Given the description of an element on the screen output the (x, y) to click on. 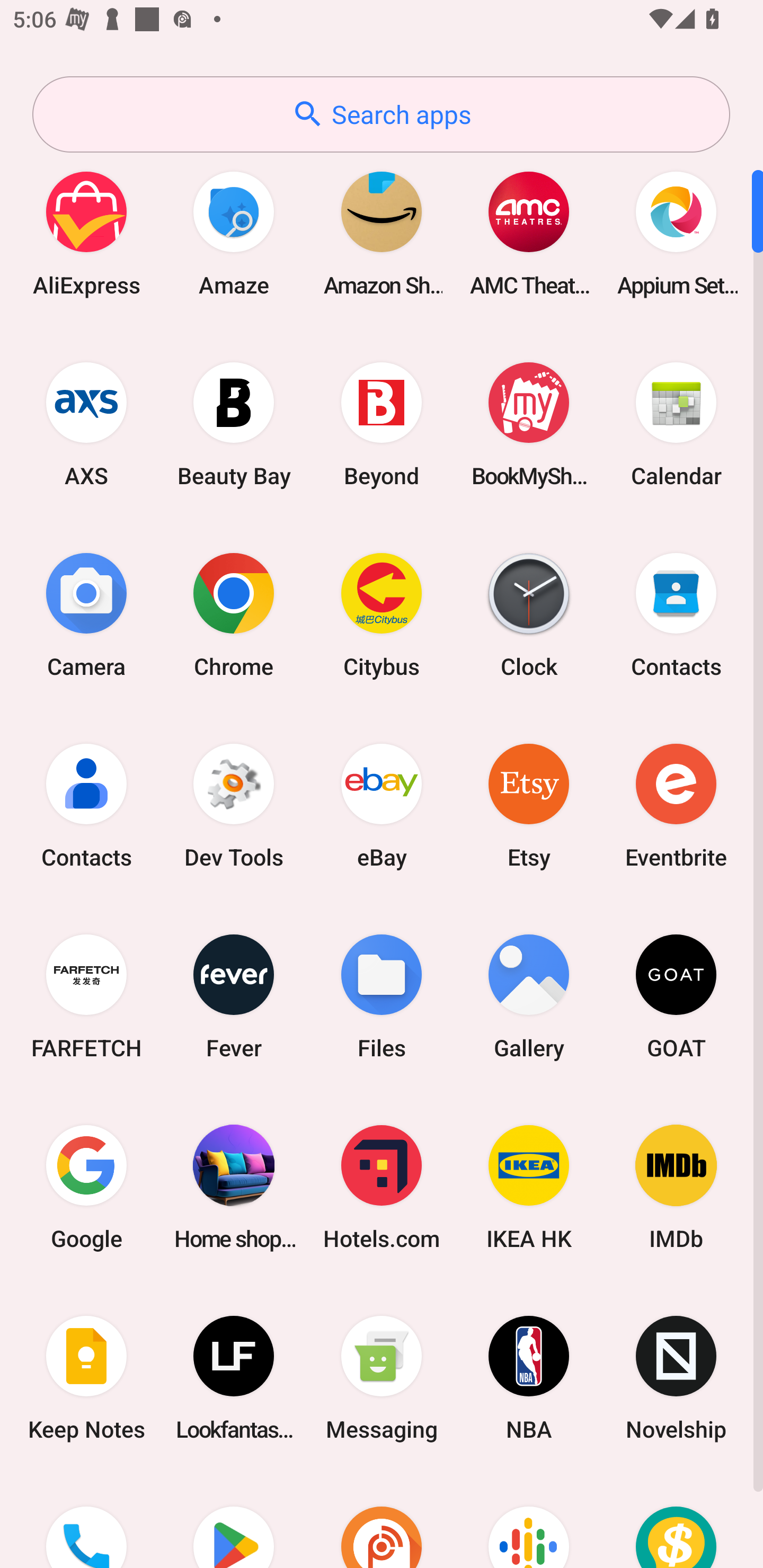
  Search apps (381, 114)
AliExpress (86, 233)
Amaze (233, 233)
Amazon Shopping (381, 233)
AMC Theatres (528, 233)
Appium Settings (676, 233)
AXS (86, 424)
Beauty Bay (233, 424)
Beyond (381, 424)
BookMyShow (528, 424)
Calendar (676, 424)
Camera (86, 614)
Chrome (233, 614)
Citybus (381, 614)
Clock (528, 614)
Contacts (676, 614)
Contacts (86, 805)
Dev Tools (233, 805)
eBay (381, 805)
Etsy (528, 805)
Eventbrite (676, 805)
FARFETCH (86, 996)
Fever (233, 996)
Files (381, 996)
Gallery (528, 996)
GOAT (676, 996)
Google (86, 1186)
Home shopping (233, 1186)
Hotels.com (381, 1186)
IKEA HK (528, 1186)
IMDb (676, 1186)
Keep Notes (86, 1377)
Lookfantastic (233, 1377)
Messaging (381, 1377)
NBA (528, 1377)
Novelship (676, 1377)
Phone (86, 1520)
Play Store (233, 1520)
Podcast Addict (381, 1520)
Podcasts (528, 1520)
Price (676, 1520)
